Given the description of an element on the screen output the (x, y) to click on. 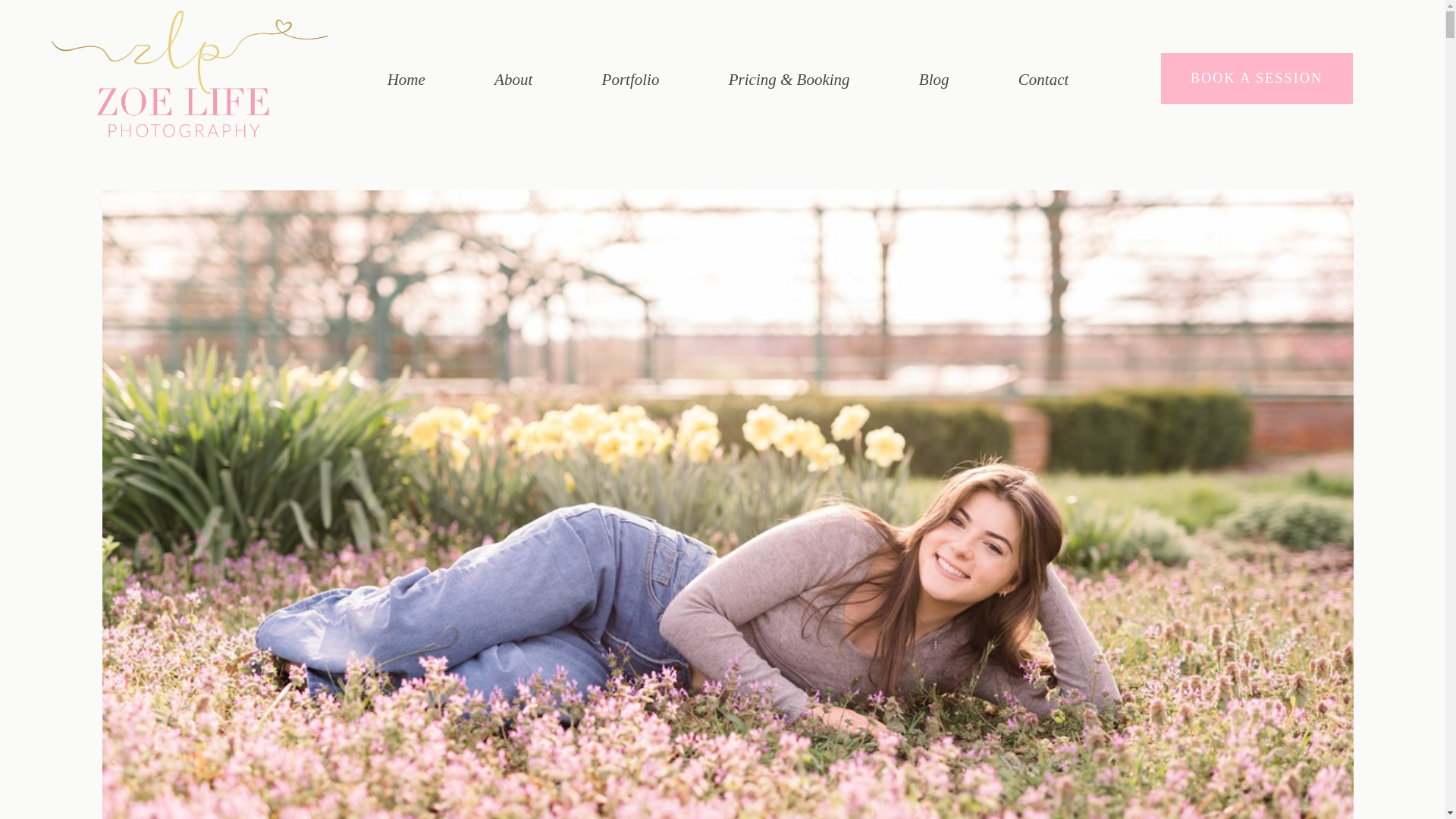
Home (406, 79)
Contact (1042, 79)
Portfolio (630, 79)
BOOK A SESSION (1256, 78)
About (513, 79)
Blog (933, 79)
